Given the description of an element on the screen output the (x, y) to click on. 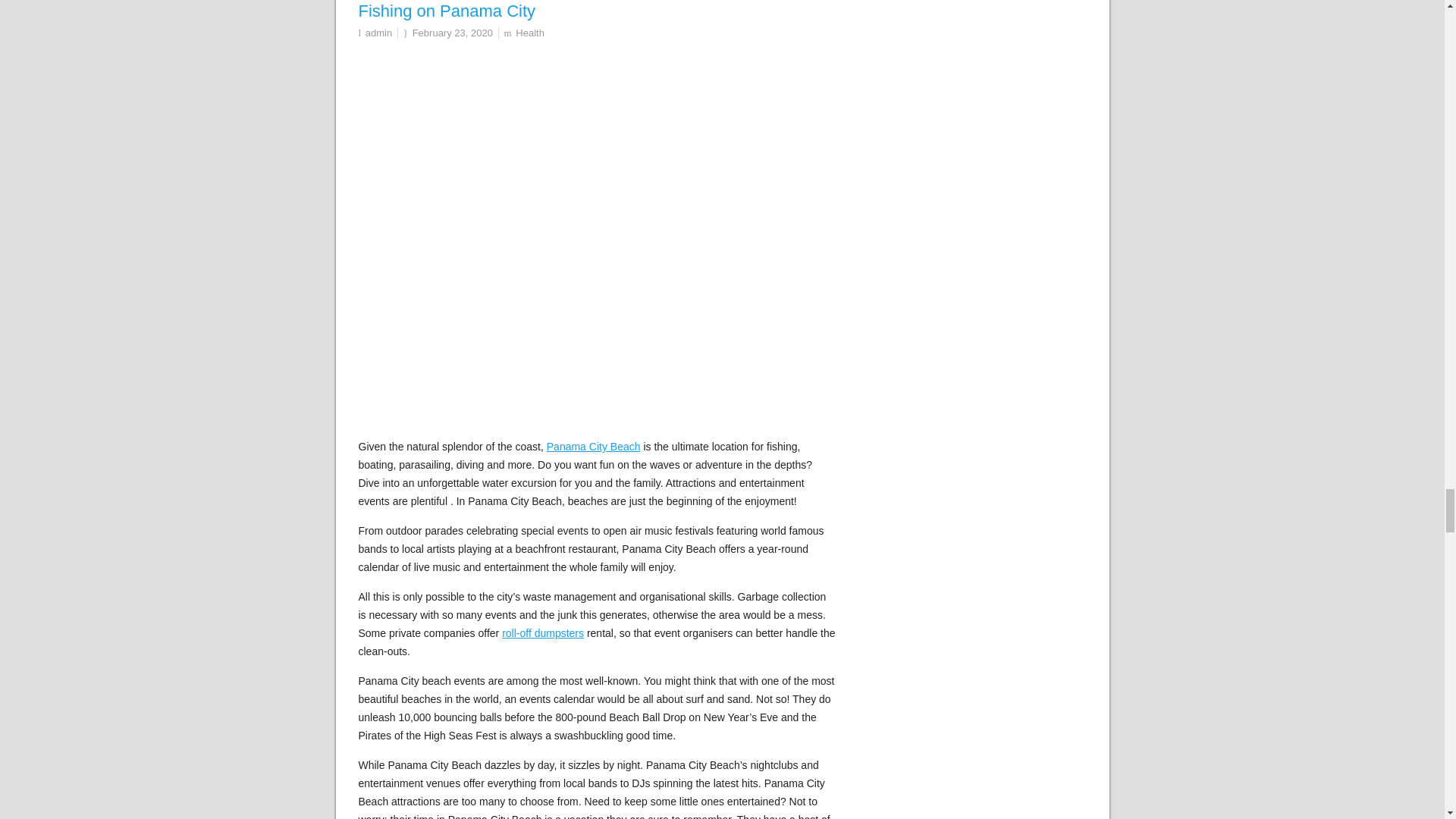
Posts by admin (378, 32)
